Given the description of an element on the screen output the (x, y) to click on. 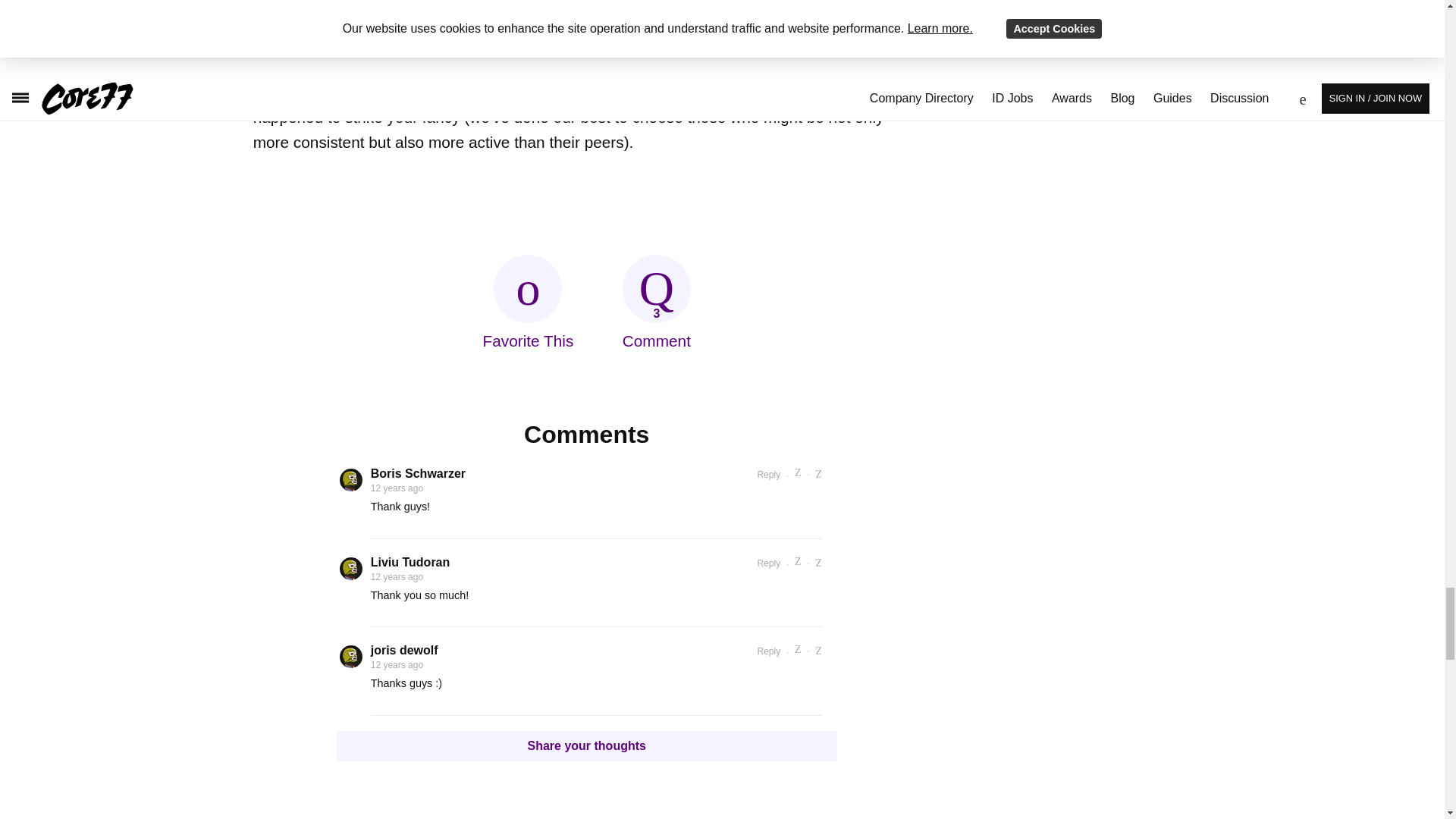
Reply (768, 651)
Reply (768, 474)
Reply (768, 562)
